Given the description of an element on the screen output the (x, y) to click on. 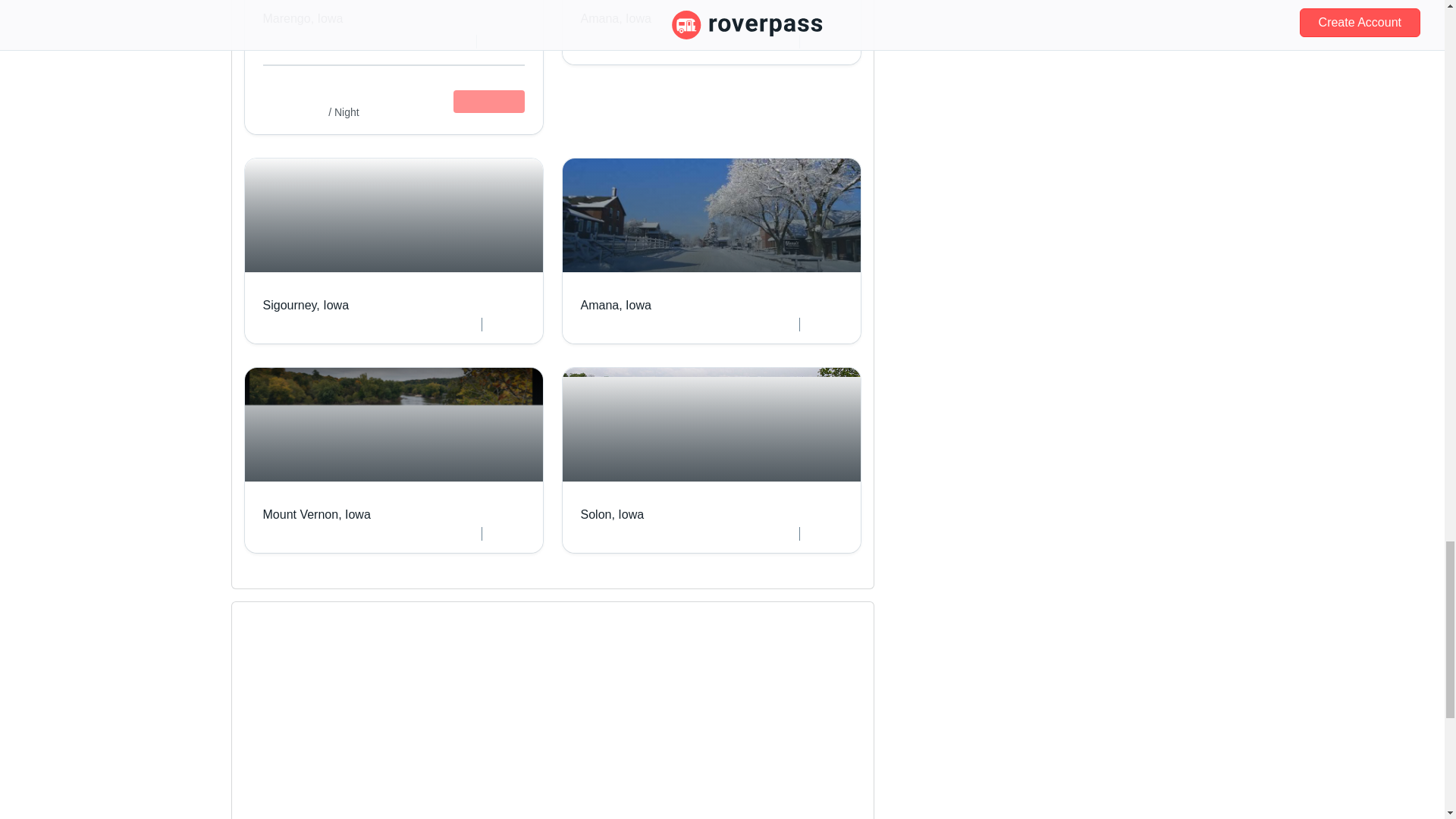
See Details (488, 101)
